Given the description of an element on the screen output the (x, y) to click on. 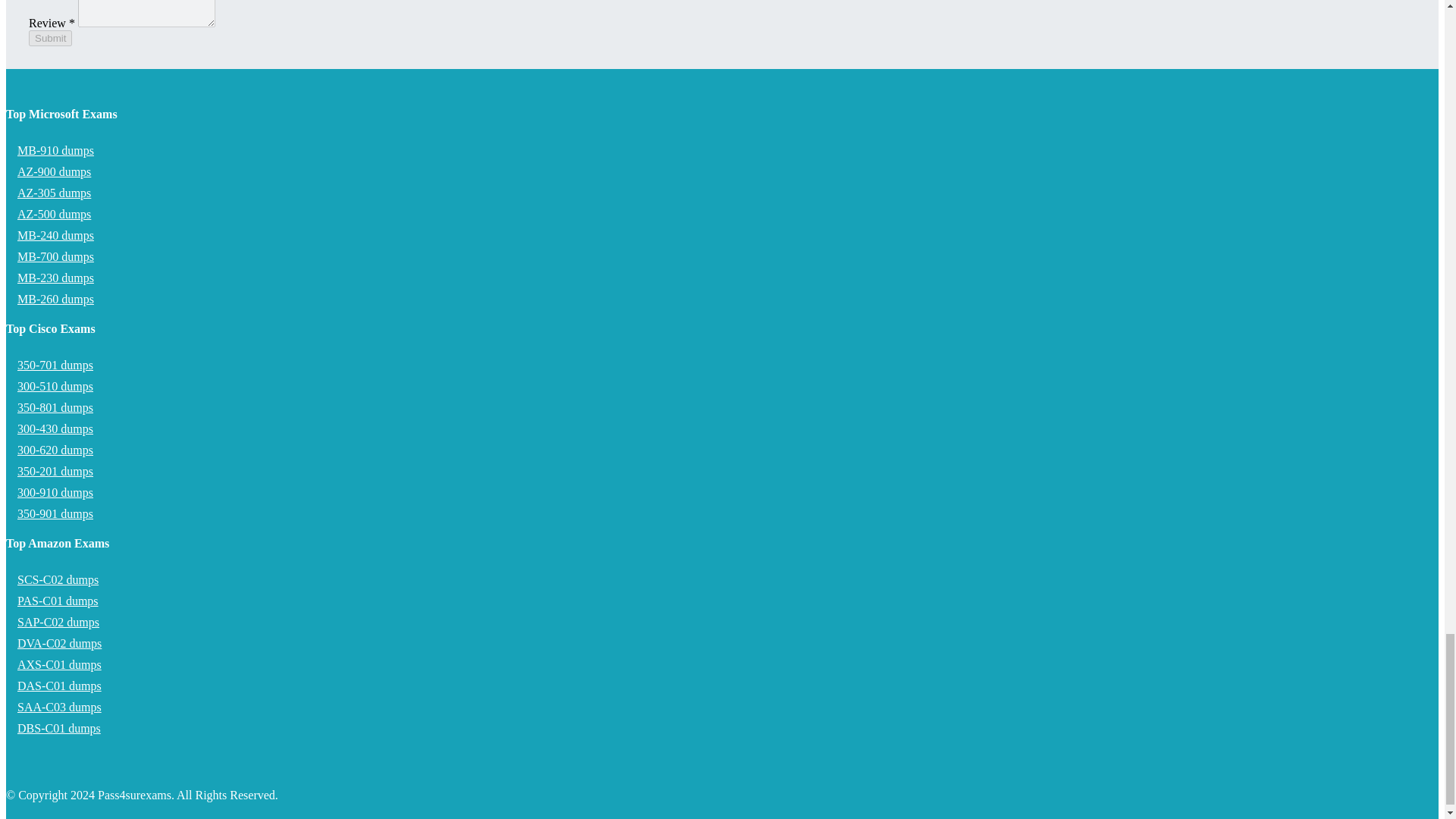
AZ-900 dumps (53, 171)
AZ-500 dumps (53, 213)
Submit (50, 37)
350-201 dumps (54, 471)
350-801 dumps (54, 407)
MB-230 dumps (54, 277)
MB-260 dumps (54, 298)
300-510 dumps (54, 386)
AZ-305 dumps (53, 193)
350-901 dumps (54, 513)
MB-910 dumps (54, 150)
350-701 dumps (54, 365)
MB-240 dumps (54, 235)
300-910 dumps (54, 492)
300-620 dumps (54, 449)
